Given the description of an element on the screen output the (x, y) to click on. 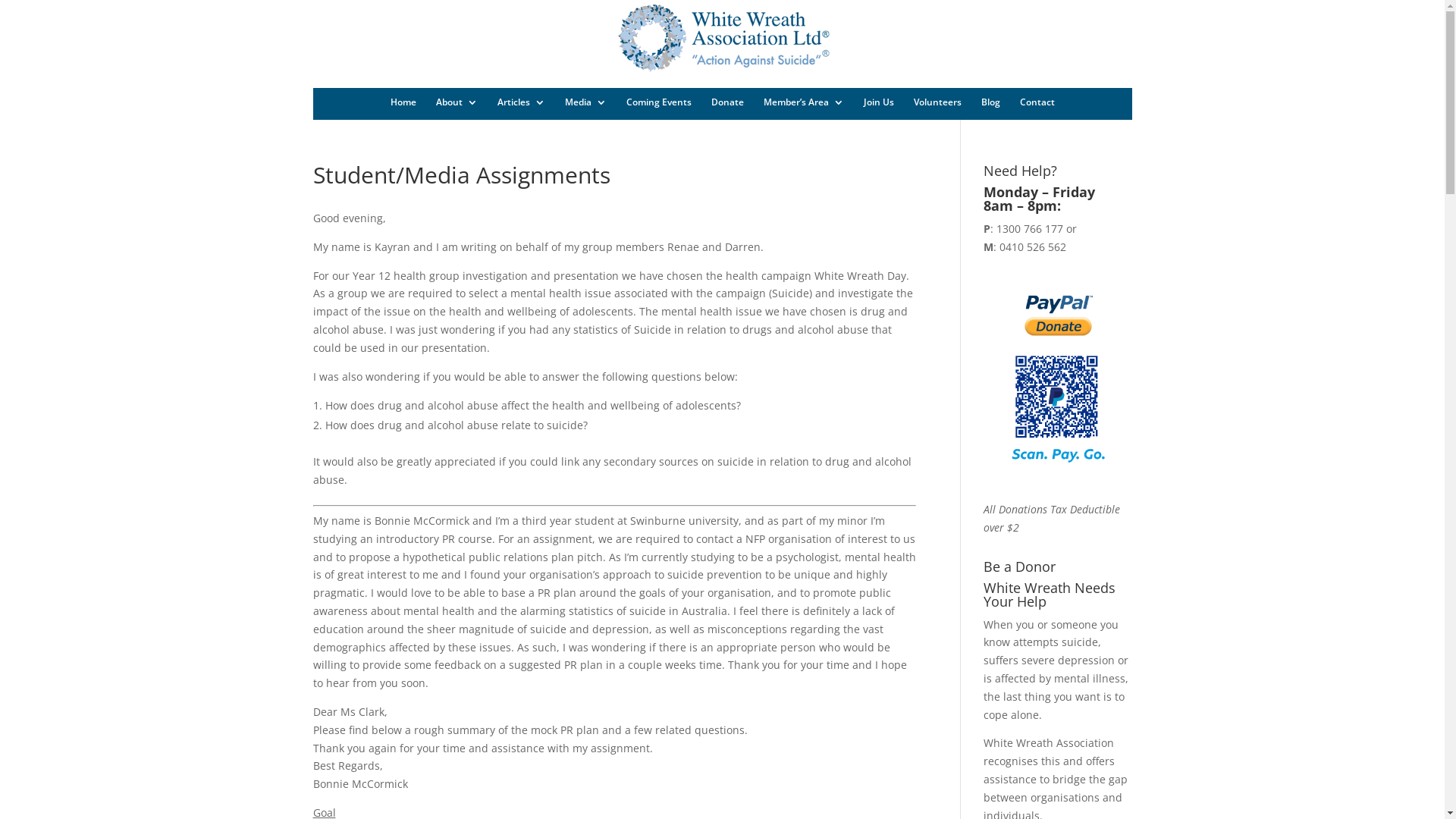
Media Element type: text (584, 101)
Coming Events Element type: text (658, 101)
Blog Element type: text (990, 101)
Volunteers Element type: text (936, 101)
Donate Element type: text (727, 101)
Home Element type: text (402, 101)
0410 526 562 Element type: text (1032, 246)
Join Us Element type: text (877, 101)
About Element type: text (455, 101)
1300 766 177 Element type: text (1029, 228)
Articles Element type: text (521, 101)
Contact Element type: text (1036, 101)
